Given the description of an element on the screen output the (x, y) to click on. 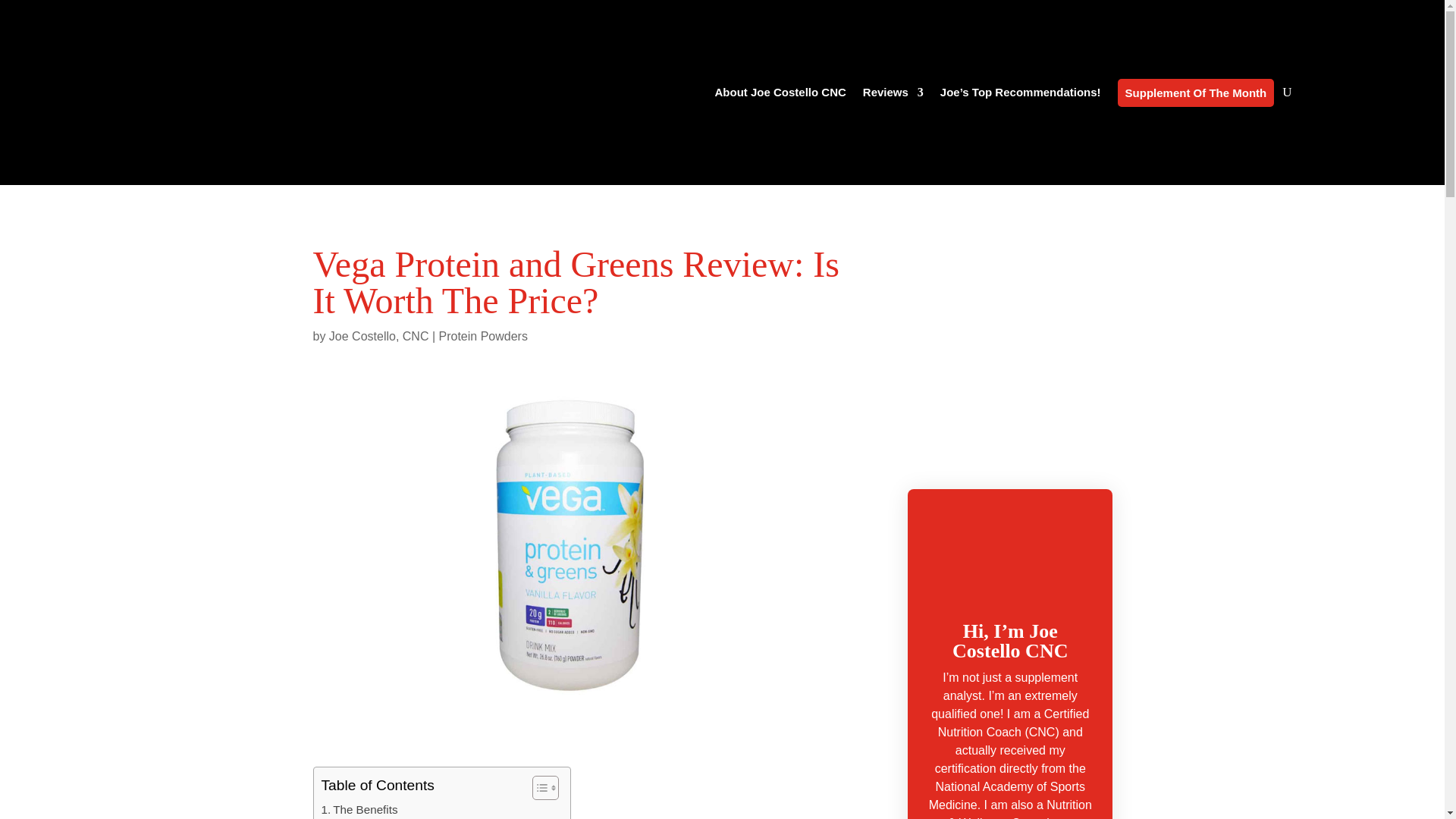
The Benefits (359, 809)
Supplement Of The Month (1196, 92)
Joe Costello, CNC (379, 336)
The Benefits (359, 809)
About Joe Costello CNC (779, 92)
Supplement Of The Month (1196, 92)
Protein Powders (482, 336)
